Given the description of an element on the screen output the (x, y) to click on. 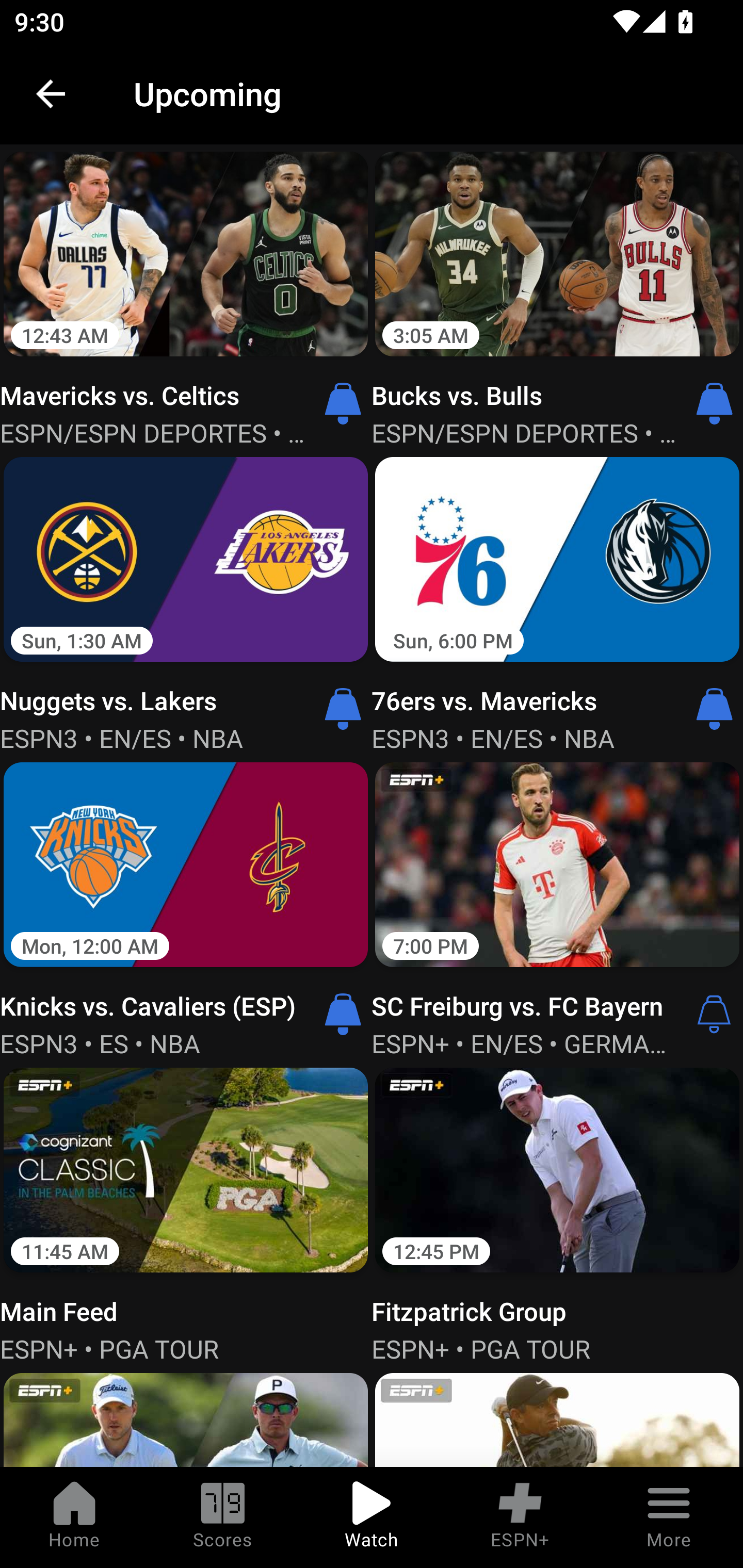
Alerts (714, 1013)
11:45 AM Main Feed ESPN+ • PGA TOUR (185, 1212)
12:45 PM Fitzpatrick Group ESPN+ • PGA TOUR (557, 1212)
Home (74, 1517)
Scores (222, 1517)
ESPN+ (519, 1517)
More (668, 1517)
